Given the description of an element on the screen output the (x, y) to click on. 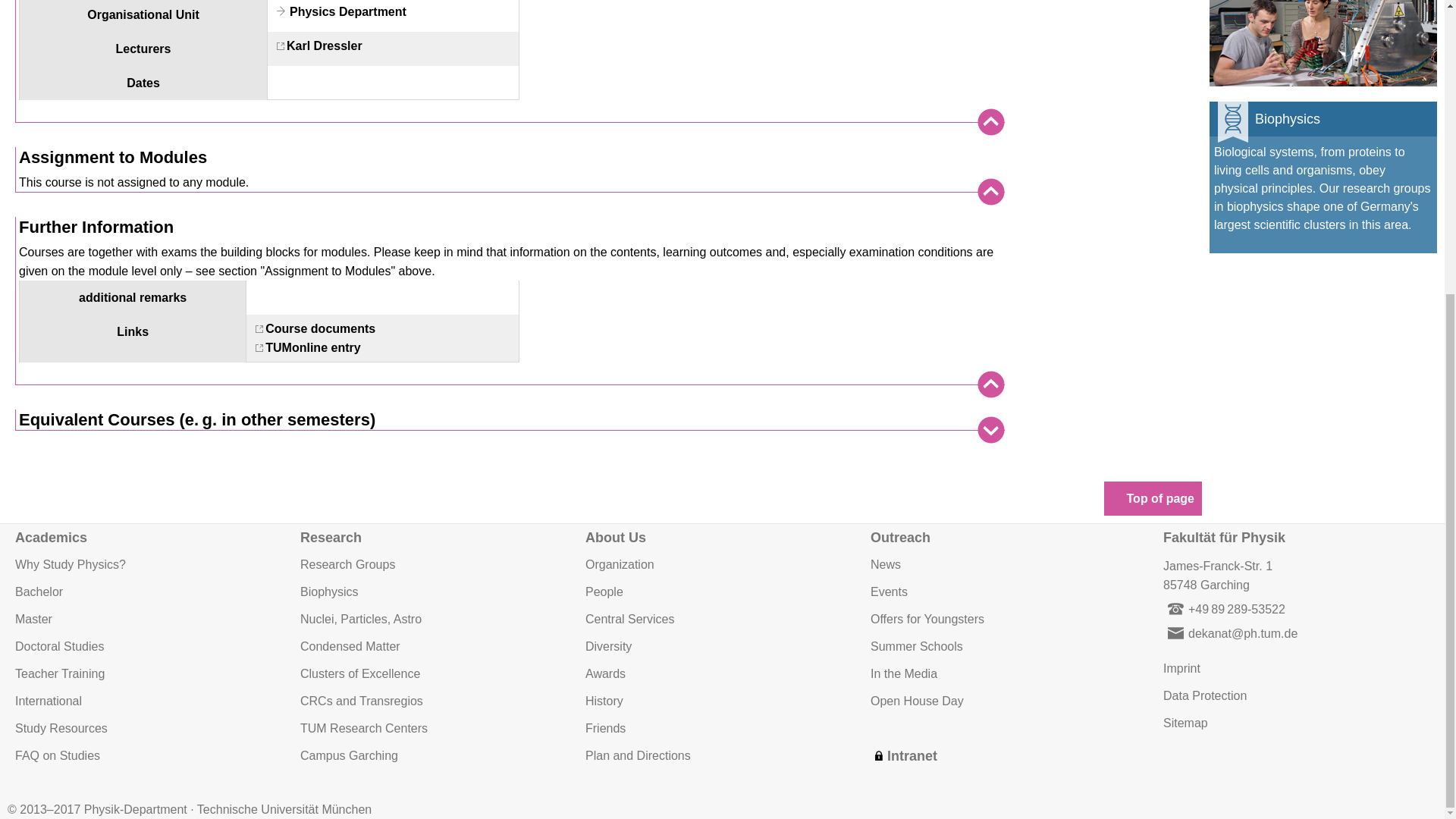
Course documents (312, 328)
Karl Dressler (317, 45)
Physics Department (339, 11)
TUMonline entry (304, 347)
